Given the description of an element on the screen output the (x, y) to click on. 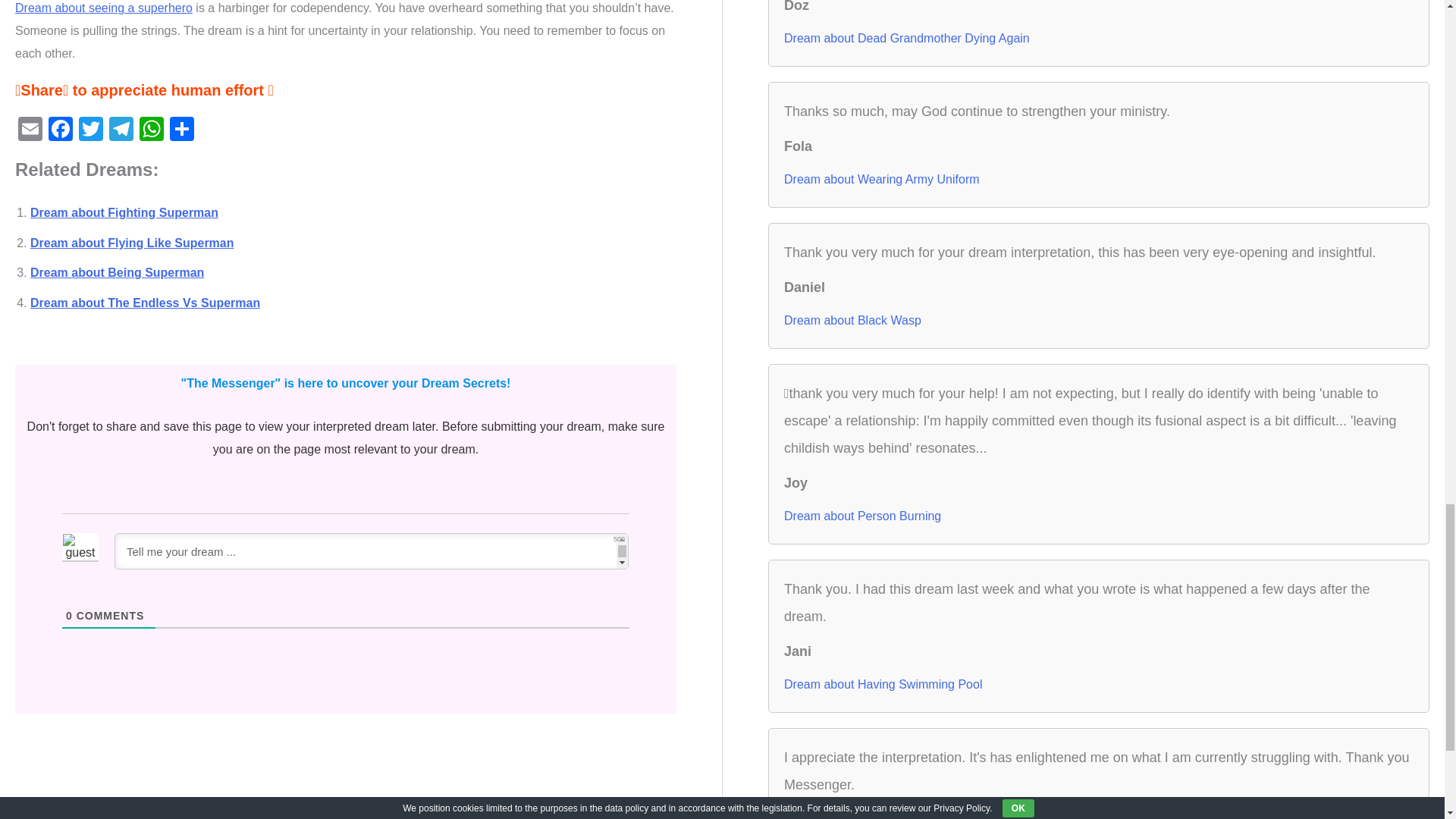
Twitter (90, 130)
Dream about The Endless Vs Superman (145, 302)
Twitter (90, 130)
Dream about Being Superman (116, 272)
WhatsApp (151, 130)
Dream about Flying Like Superman (132, 242)
Telegram (121, 130)
Facebook (60, 130)
Dream about Black Wasp (852, 320)
Dream about seeing a superhero (103, 7)
